Given the description of an element on the screen output the (x, y) to click on. 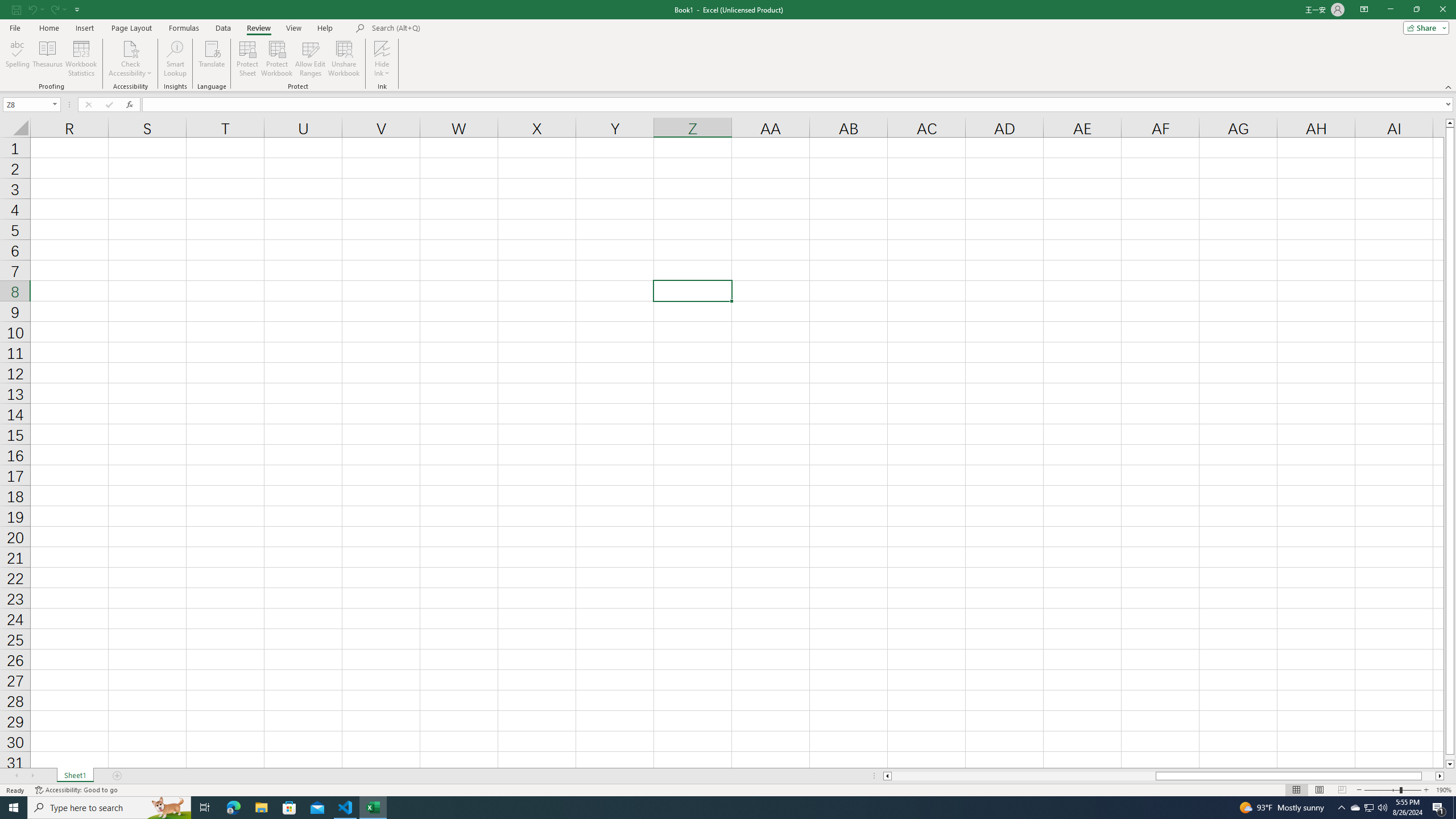
Workbook Statistics (81, 58)
